Given the description of an element on the screen output the (x, y) to click on. 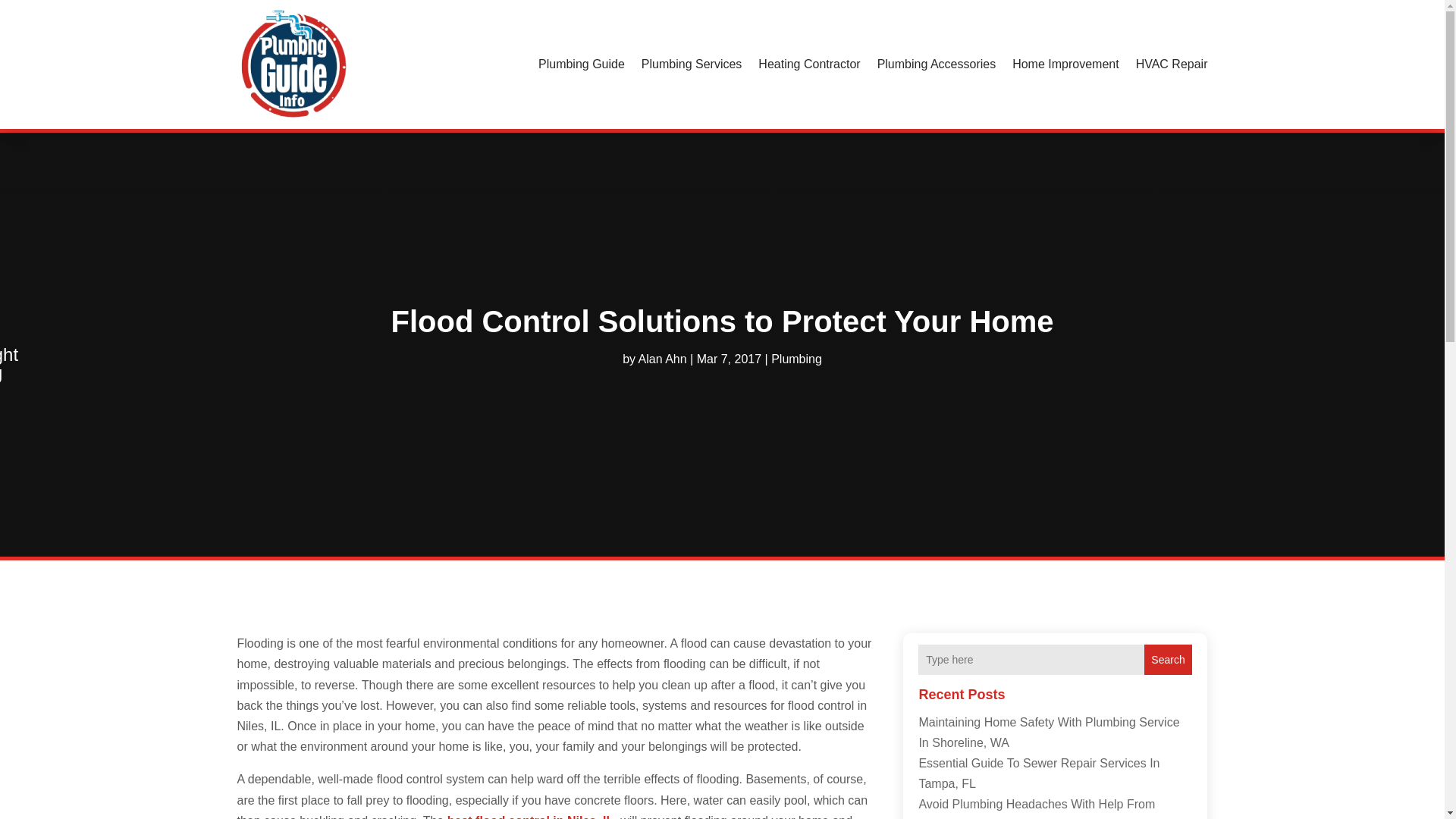
Plumbing (796, 358)
best flood control in Niles, IL (530, 816)
Alan Ahn (663, 358)
Search (1168, 659)
Heating Contractor (809, 64)
Plumbing Accessories (936, 64)
Posts by Alan Ahn (663, 358)
Home Improvement (1065, 64)
